Given the description of an element on the screen output the (x, y) to click on. 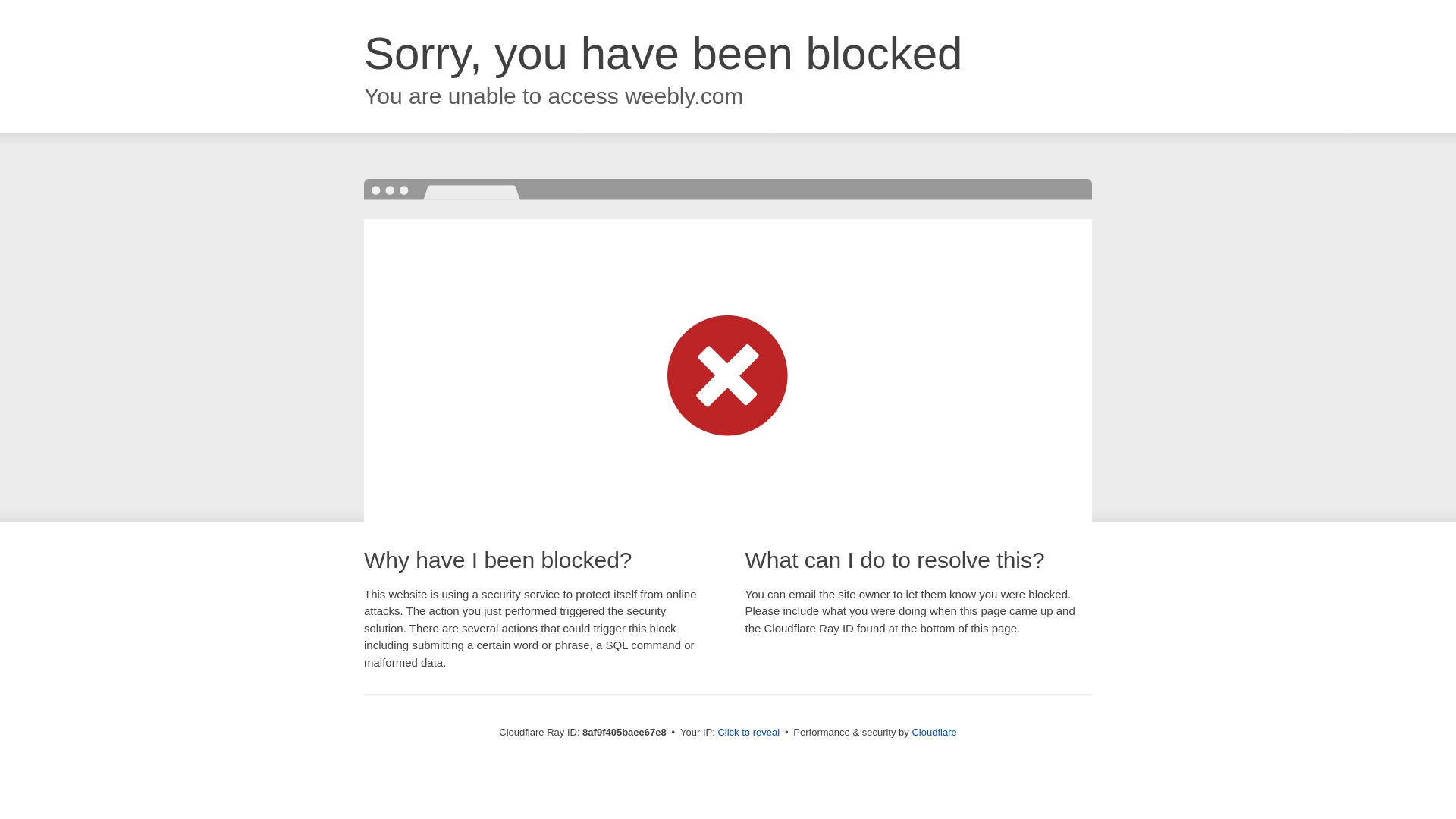
Cloudflare (933, 731)
Click to reveal (747, 732)
